Given the description of an element on the screen output the (x, y) to click on. 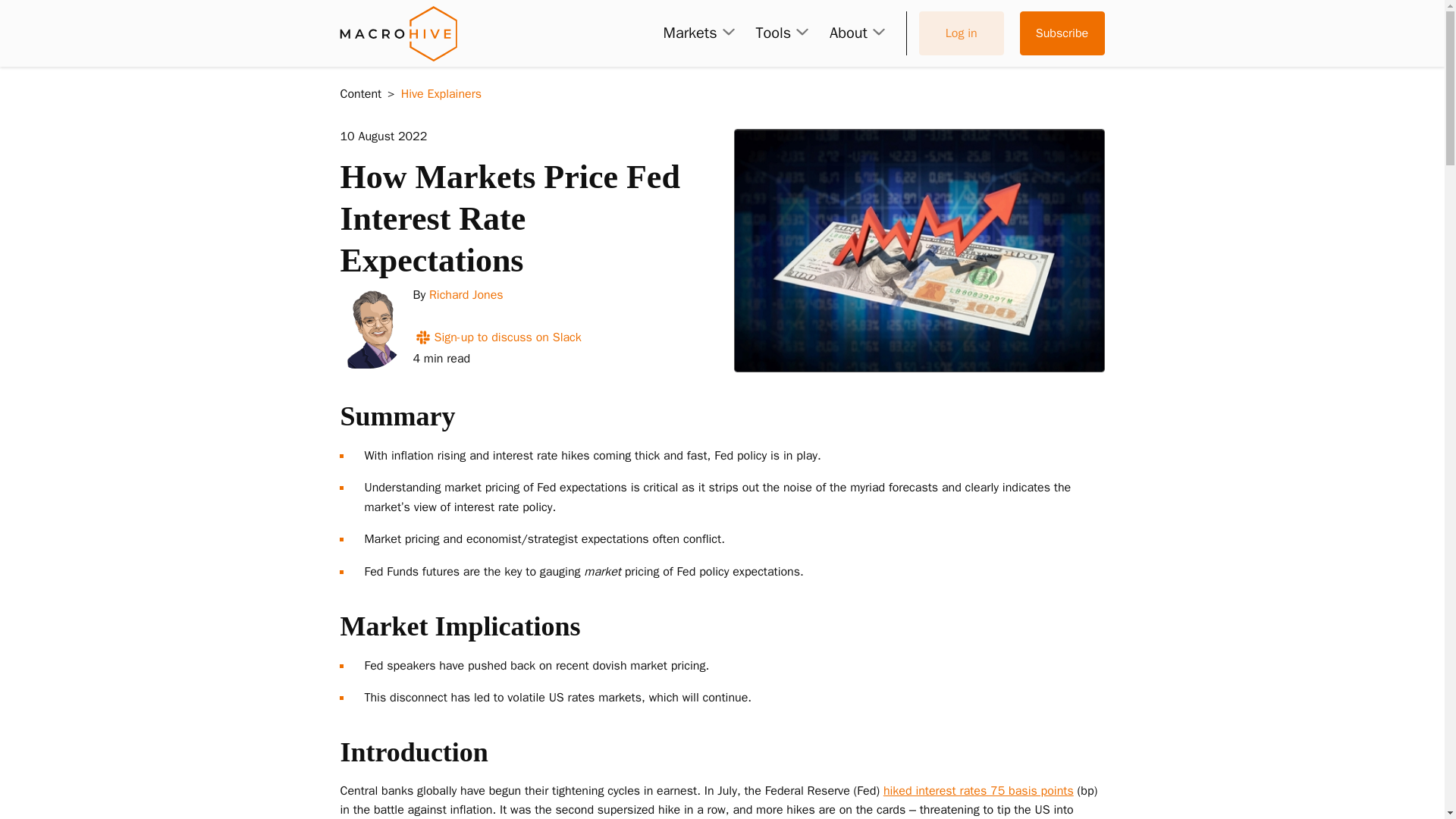
Richard Jones (466, 294)
Sign-up to discuss on Slack (496, 337)
Log in (961, 33)
Hive Explainers (441, 93)
Subscribe (1061, 33)
hiked interest rates 75 basis points (978, 790)
